Given the description of an element on the screen output the (x, y) to click on. 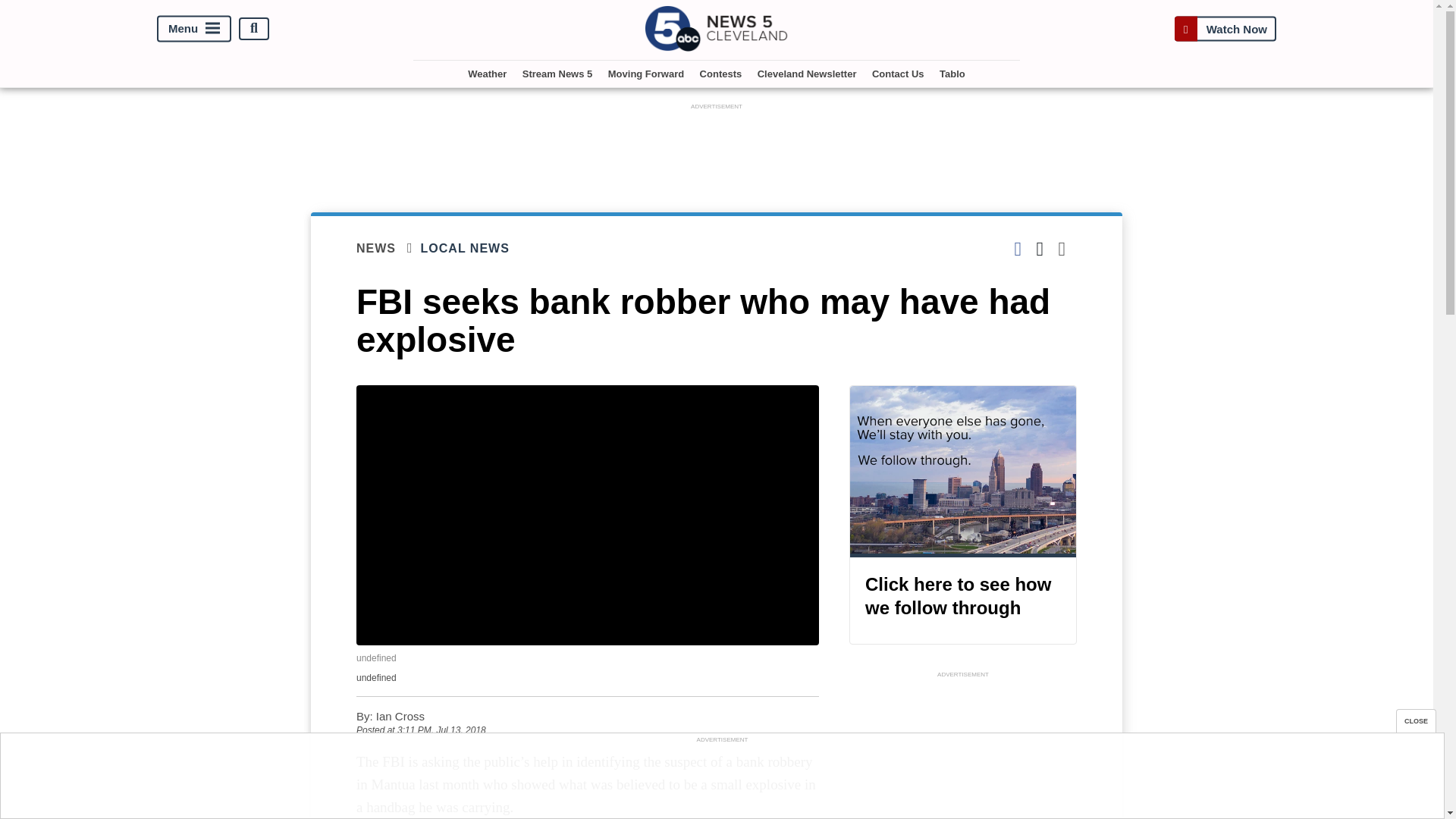
Watch Now (1224, 28)
3rd party ad content (721, 780)
3rd party ad content (716, 147)
Menu (194, 28)
3rd party ad content (962, 750)
